Given the description of an element on the screen output the (x, y) to click on. 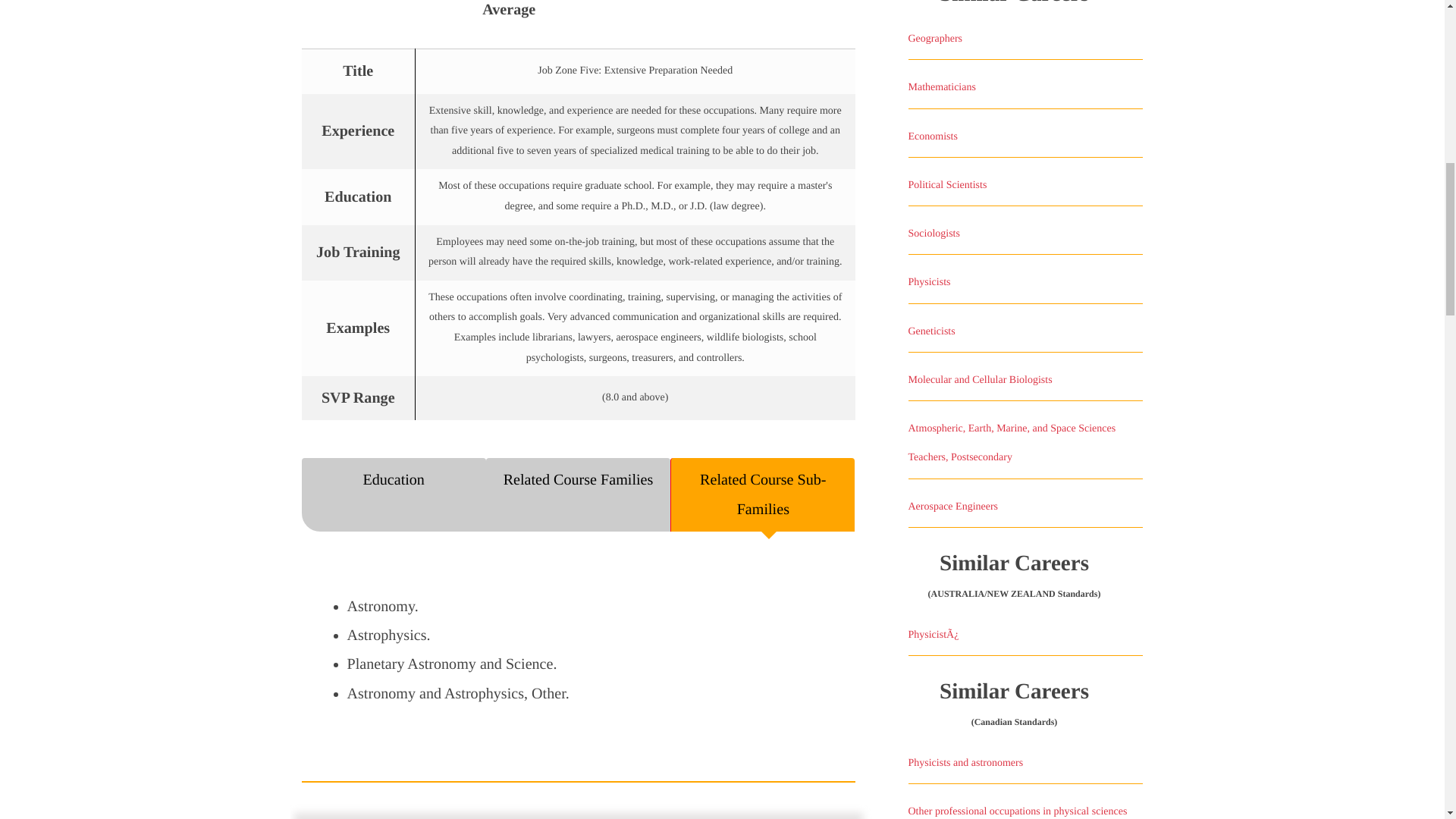
Related Course Sub-Families (761, 493)
Education (393, 493)
Related Course Families (577, 493)
